Given the description of an element on the screen output the (x, y) to click on. 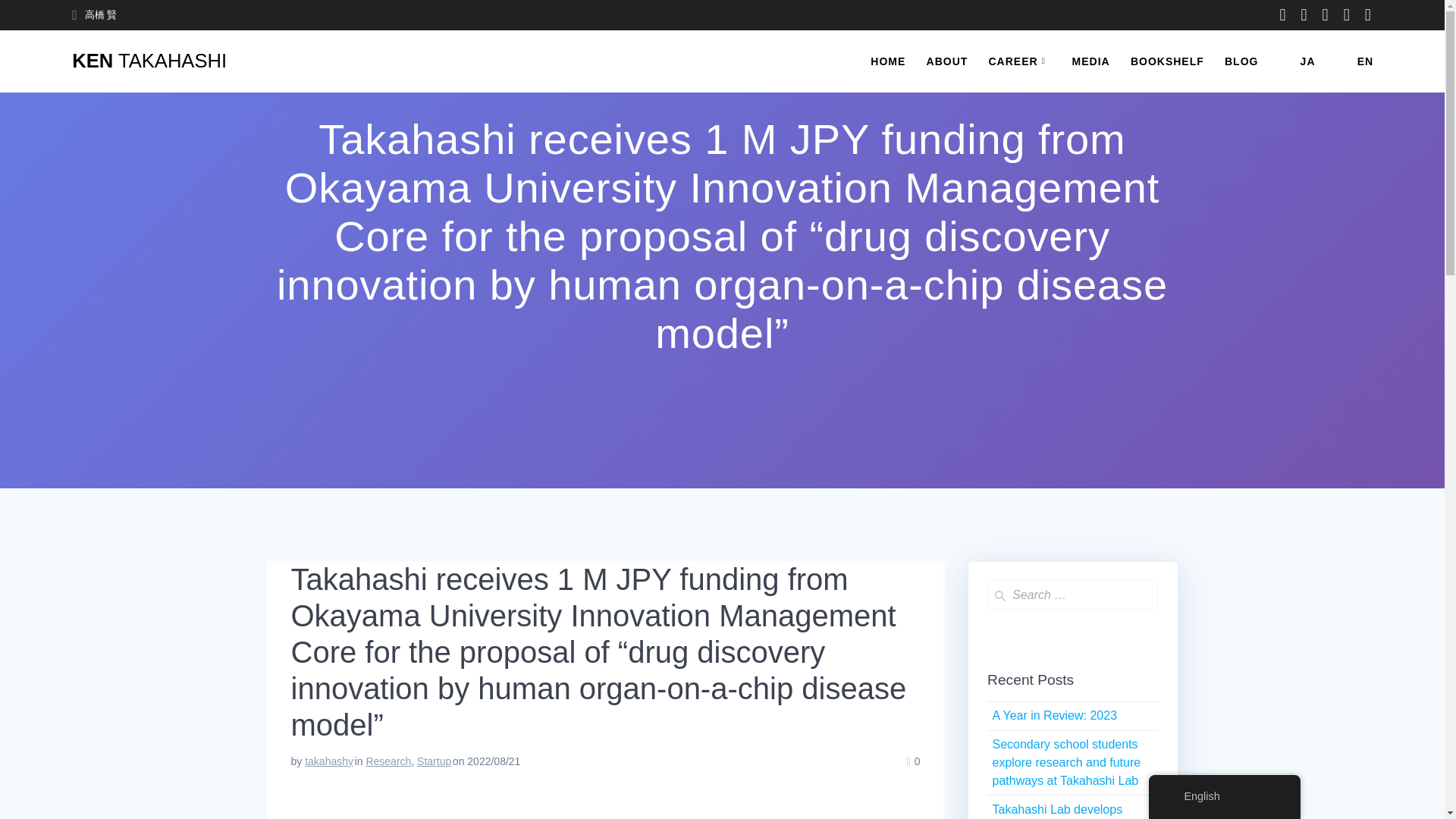
MEDIA (1090, 61)
ABOUT (947, 61)
JA (1297, 61)
BLOG (1240, 61)
Japanese (1289, 61)
English (1346, 61)
CAREER (1019, 61)
BOOKSHELF (1167, 61)
Posts by takahashy (328, 761)
KEN TAKAHASHI (149, 61)
